Given the description of an element on the screen output the (x, y) to click on. 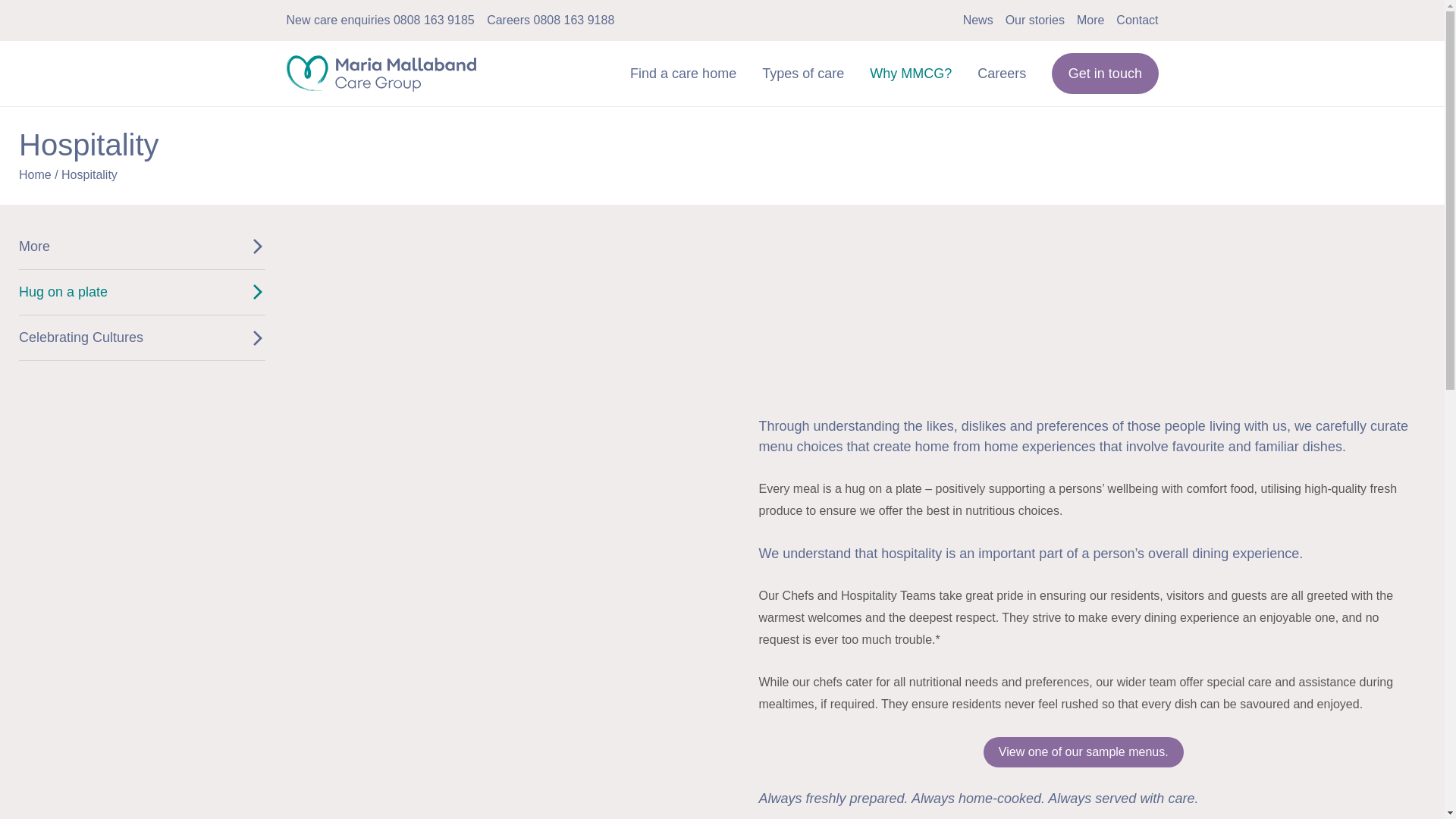
0808 163 9188 (574, 19)
Our stories (1035, 20)
0808 163 9185 (433, 19)
Find out more about the care we offer (809, 73)
Get in touch (1104, 73)
Why MMCG? (917, 73)
Types of care (809, 73)
Home (381, 61)
Contact (1136, 20)
Careers (1007, 73)
Find a care home (689, 73)
